Given the description of an element on the screen output the (x, y) to click on. 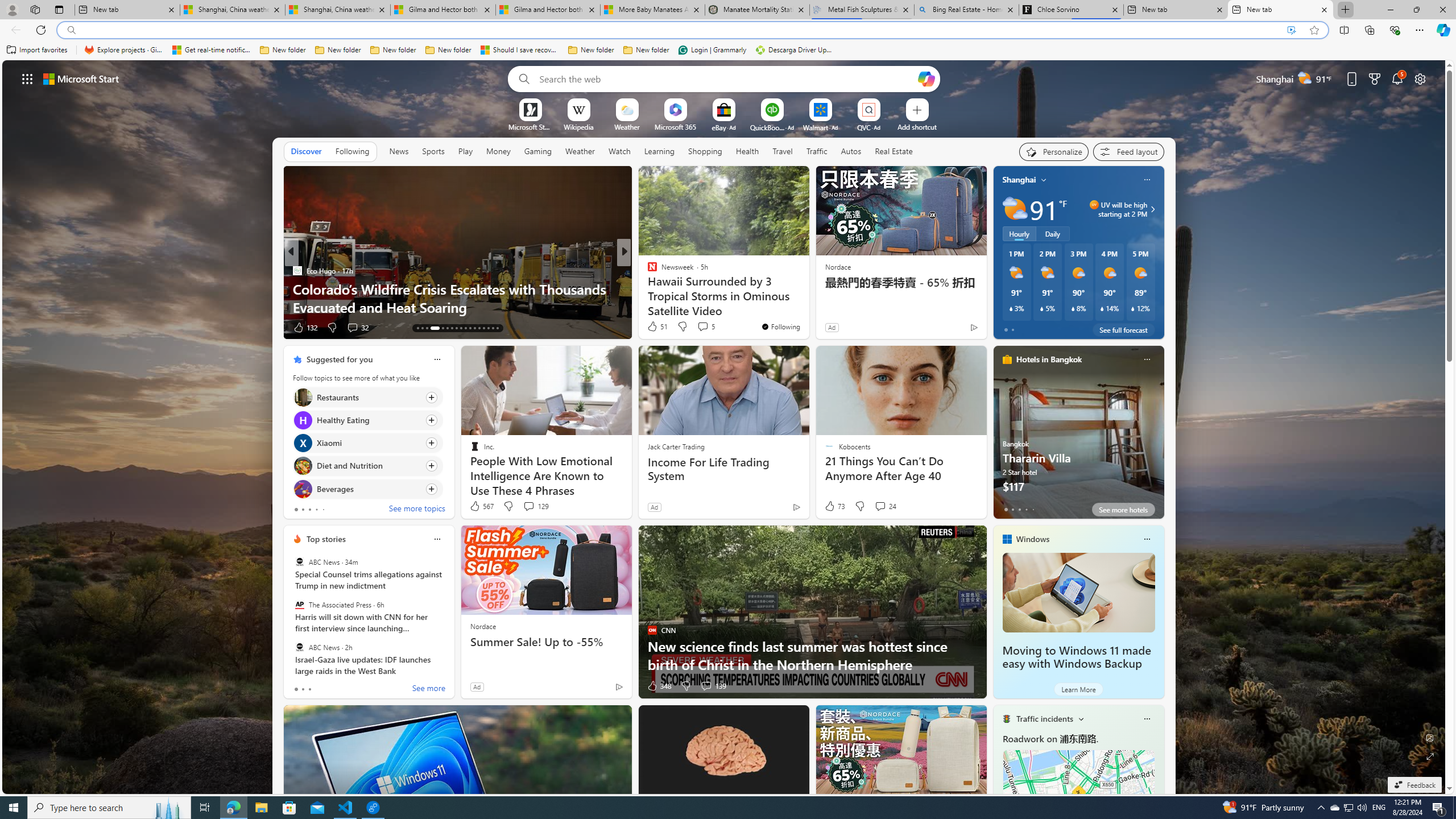
View comments 129 Comment (528, 505)
Beverages (302, 488)
Play (465, 151)
7 Like (651, 327)
Feed settings (1128, 151)
View comments 1k Comment (347, 327)
Descarga Driver Updater (794, 49)
Class: control (27, 78)
Health (746, 151)
Learning (658, 151)
